Given the description of an element on the screen output the (x, y) to click on. 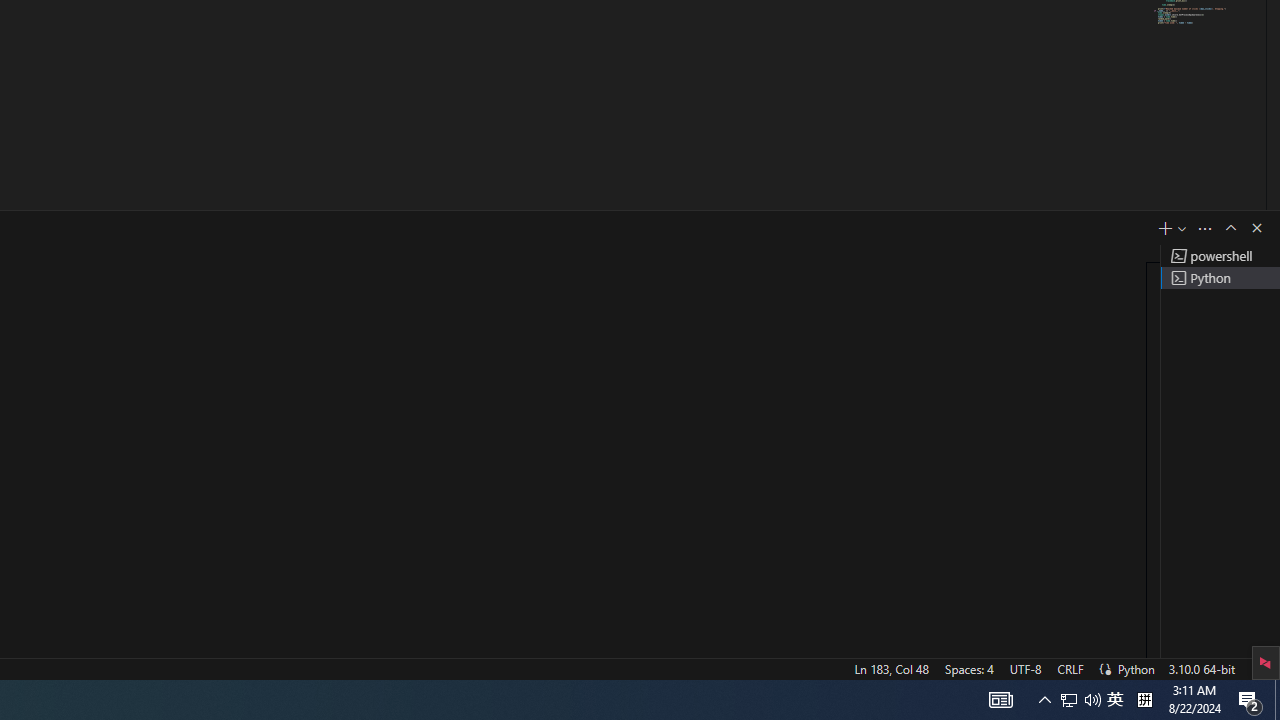
Terminal 5 Python (1220, 277)
CRLF (1070, 668)
UTF-8 (1025, 668)
Terminal 1 powershell (1220, 255)
Notifications (1257, 668)
Hide Panel (1256, 227)
Ln 183, Col 48 (891, 668)
Spaces: 4 (968, 668)
Launch Profile... (1181, 227)
Views and More Actions... (1205, 227)
